Given the description of an element on the screen output the (x, y) to click on. 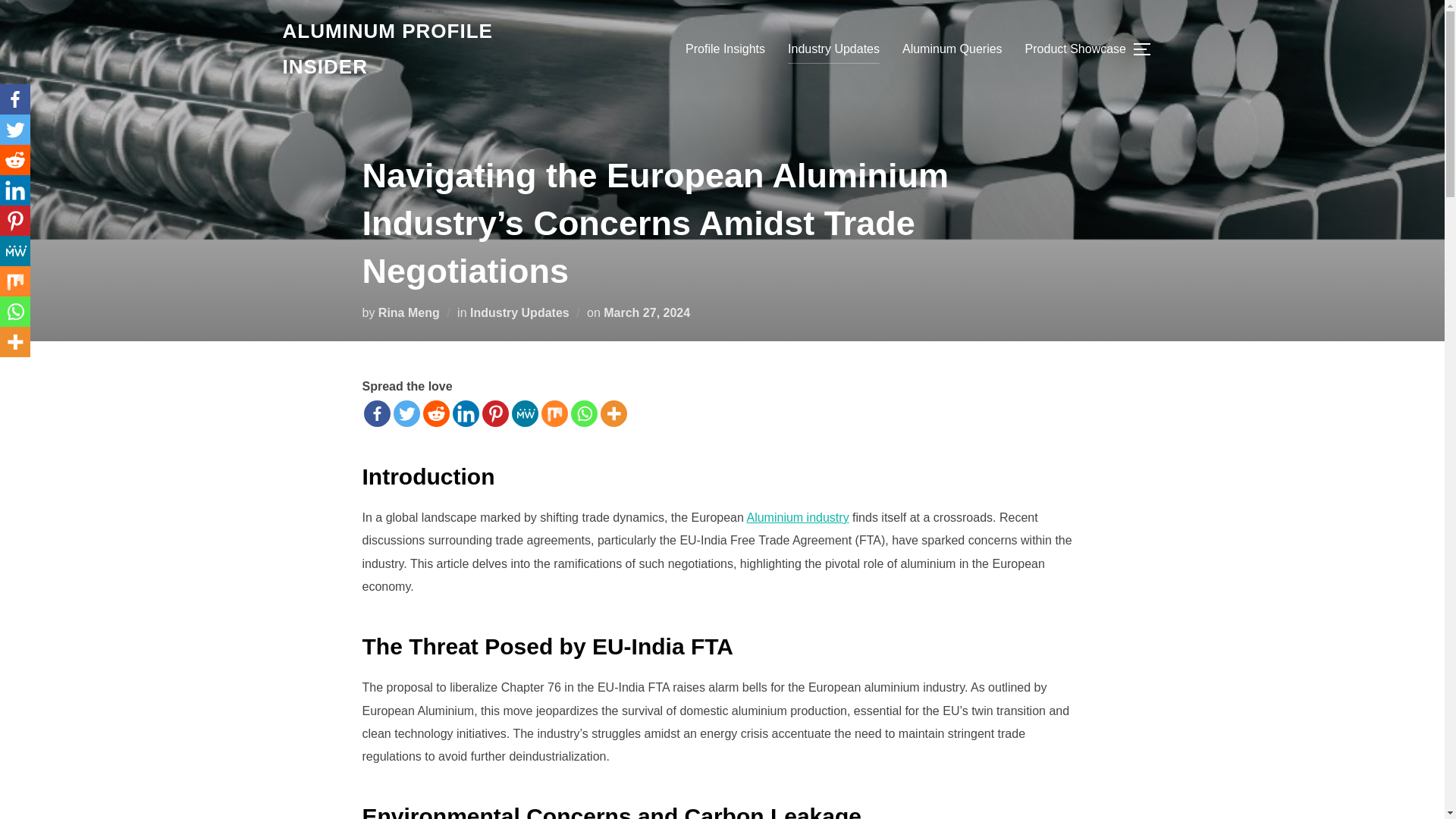
Reddit (436, 413)
Mix (554, 413)
ALUMINUM PROFILE INSIDER (414, 49)
Industry Updates (519, 312)
Twitter (406, 413)
Aluminium industry (796, 517)
Twitter (15, 129)
Facebook (15, 99)
More (613, 413)
Profile Insights (725, 49)
